Given the description of an element on the screen output the (x, y) to click on. 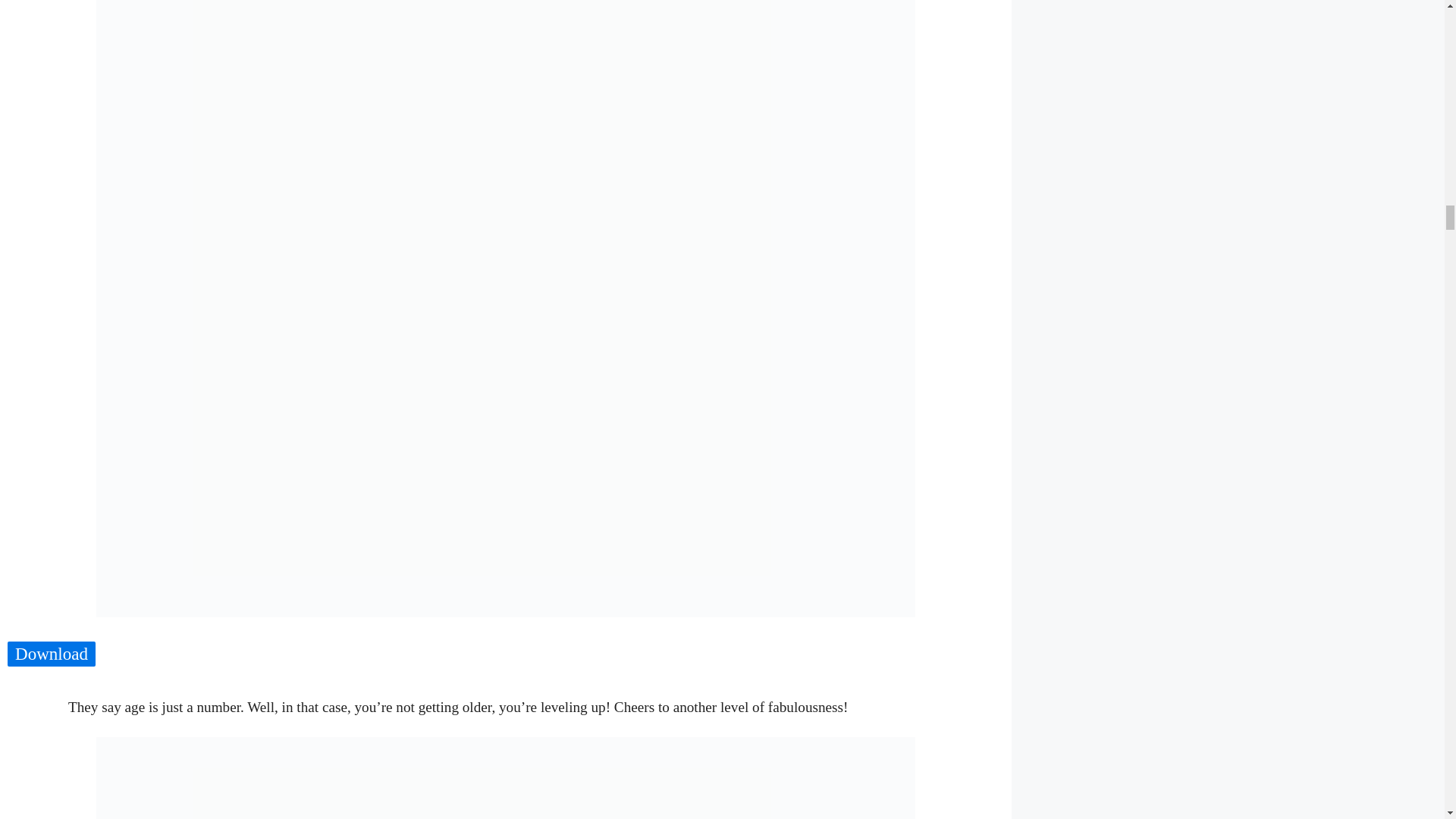
Download (51, 654)
Download (51, 653)
